Given the description of an element on the screen output the (x, y) to click on. 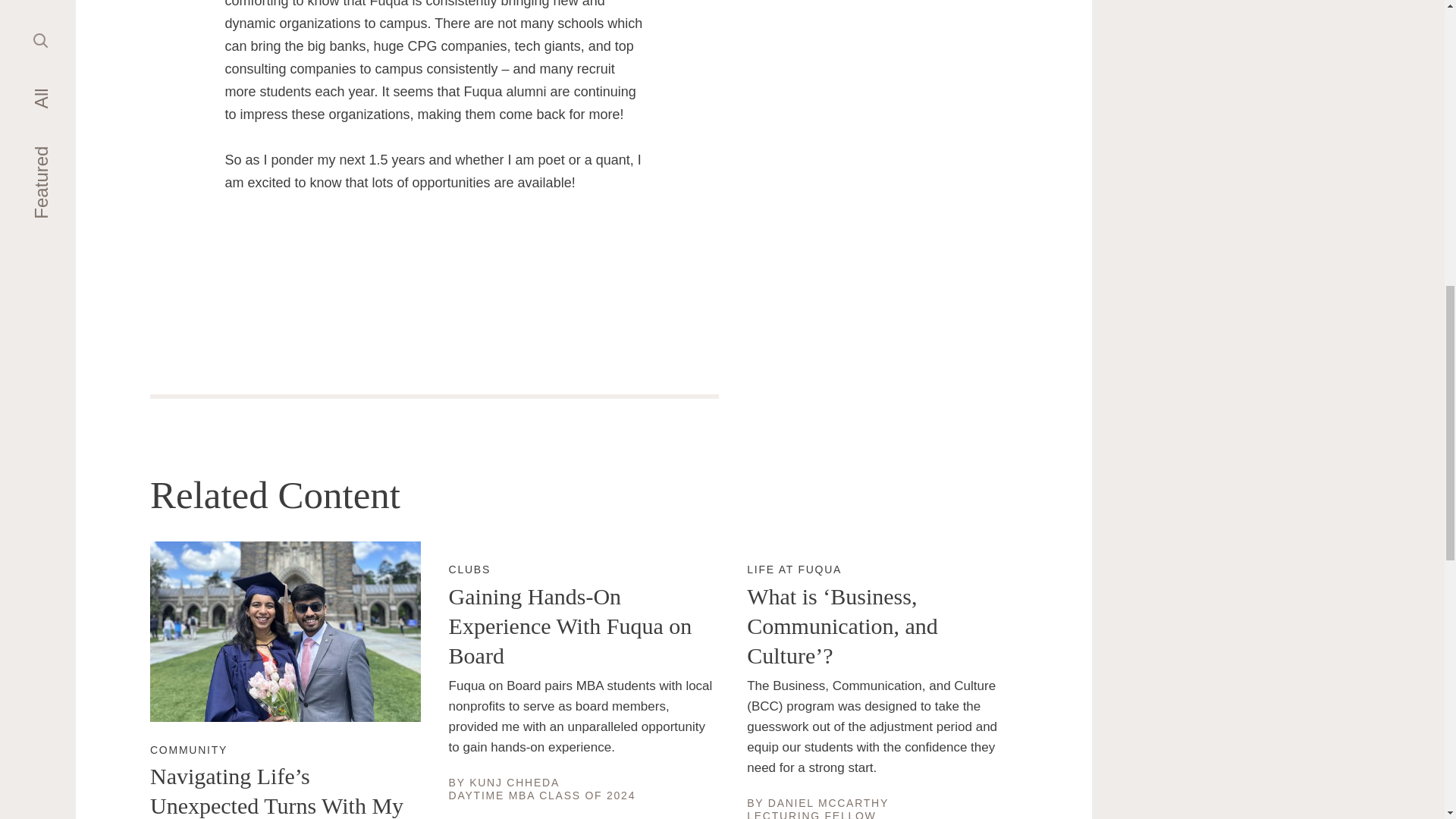
Gaining Hands-On Experience With Fuqua on Board (513, 782)
